Given the description of an element on the screen output the (x, y) to click on. 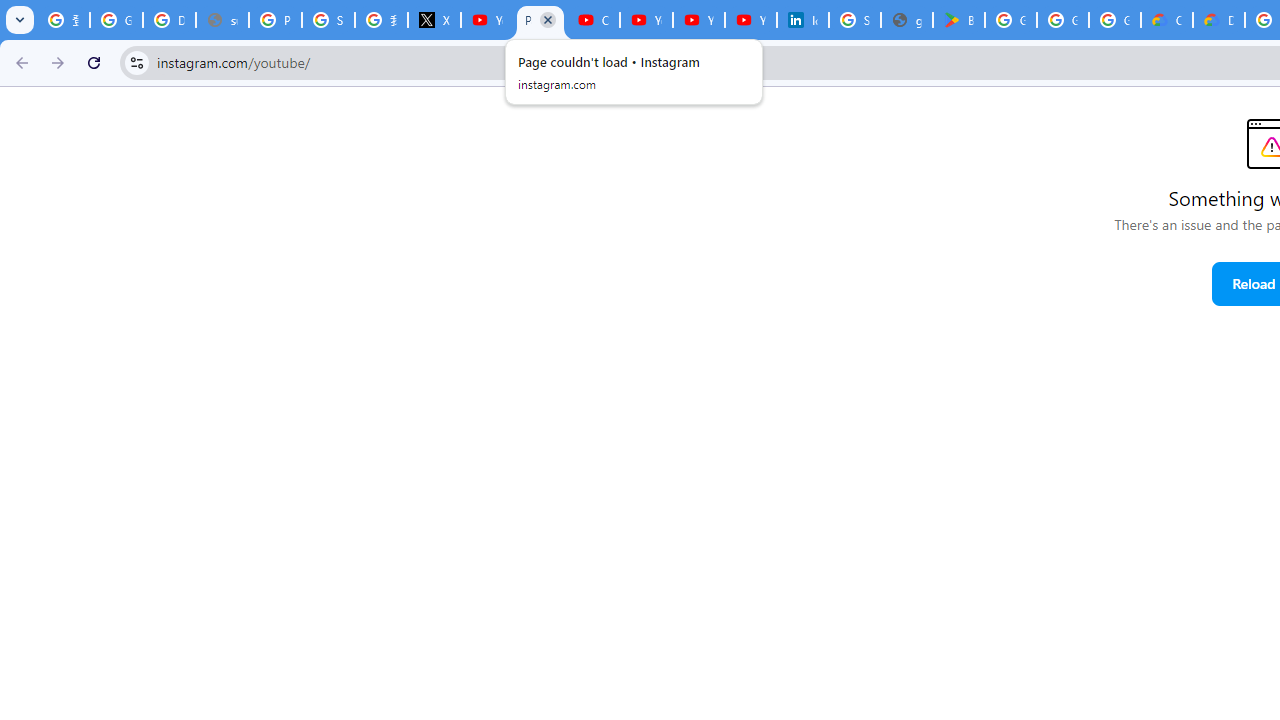
Customer Care | Google Cloud (1166, 20)
Google Workspace - Specific Terms (1114, 20)
google_privacy_policy_en.pdf (906, 20)
Sign in - Google Accounts (328, 20)
